Given the description of an element on the screen output the (x, y) to click on. 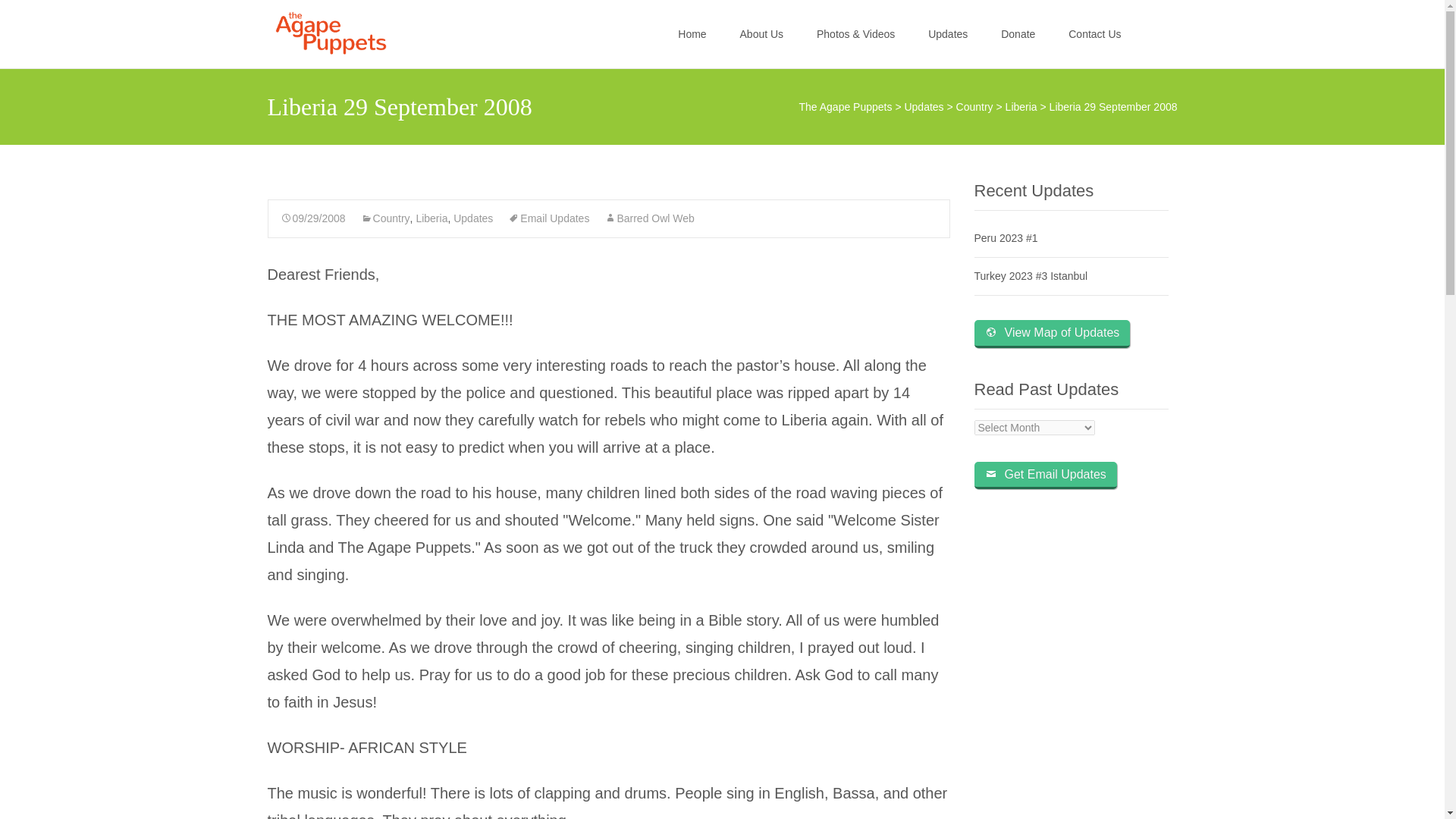
Go to the Liberia Category archives. (1021, 106)
Get Email Updates (1045, 474)
Go to Updates. (923, 106)
Country (385, 218)
Updates (923, 106)
Country (974, 106)
The Agape Puppets (845, 106)
View Map of Updates (1051, 333)
Permalink to Liberia 29 September 2008 (313, 218)
Liberia (1021, 106)
